Given the description of an element on the screen output the (x, y) to click on. 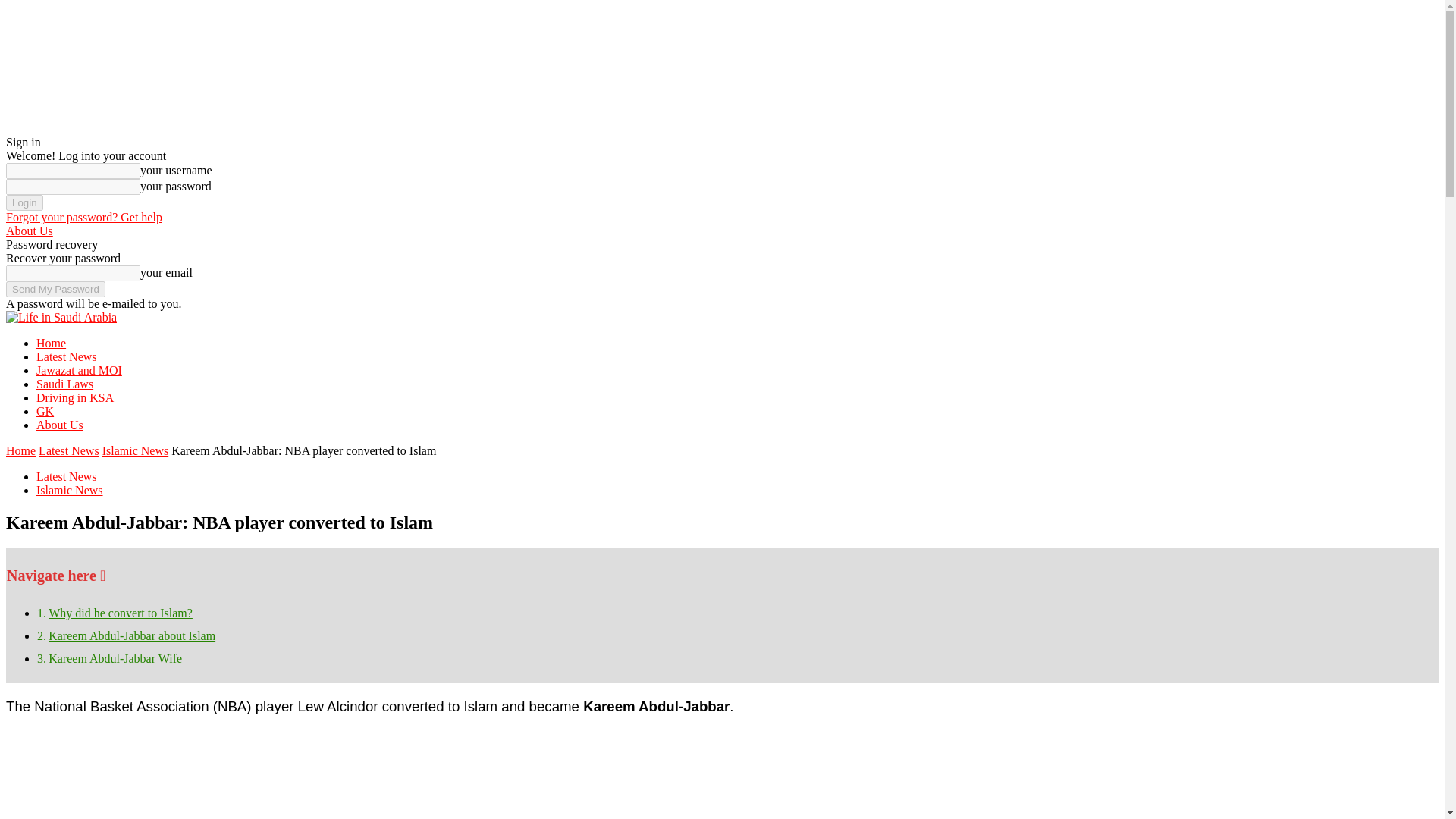
Latest News (66, 356)
View all posts in Latest News (69, 450)
Home (19, 450)
Home (50, 342)
Login (24, 202)
View all posts in Islamic News (134, 450)
Forgot your password? Get help (83, 216)
Kareem Abdul-Jabbar about Islam (131, 635)
About Us (59, 424)
Latest News (66, 476)
About Us (28, 230)
Why did he convert to Islam? (120, 612)
Send My Password (54, 289)
Life in Saudi Arabia (60, 317)
Kareem Abdul-Jabbar about Islam (131, 635)
